Given the description of an element on the screen output the (x, y) to click on. 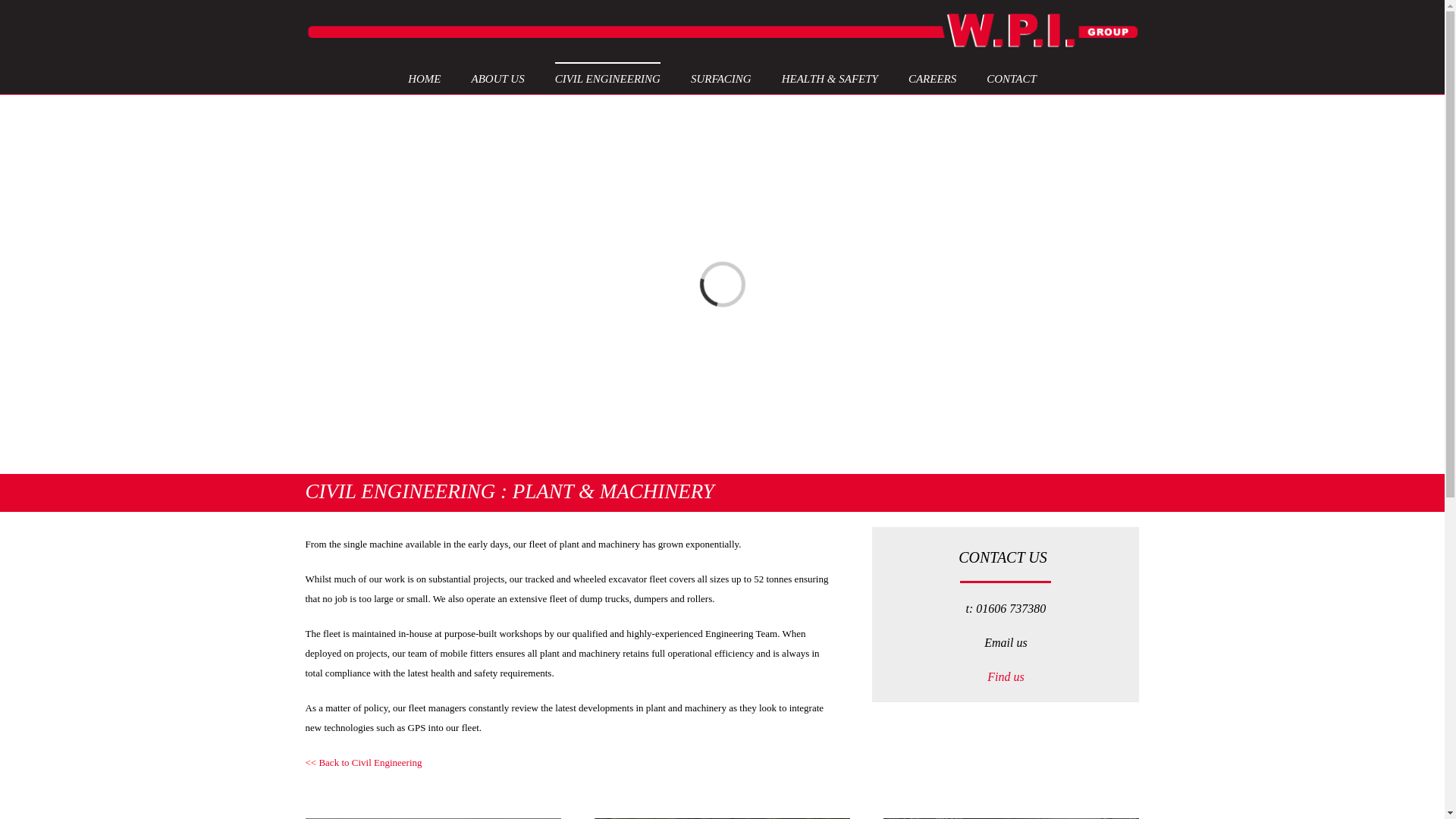
Email us (1005, 642)
CAREERS (932, 78)
CONTACT (1011, 78)
CIVIL ENGINEERING (607, 78)
SURFACING (720, 78)
Back to Civil Engineering (370, 762)
ABOUT US (497, 78)
Find us (1005, 676)
HOME (424, 78)
